Given the description of an element on the screen output the (x, y) to click on. 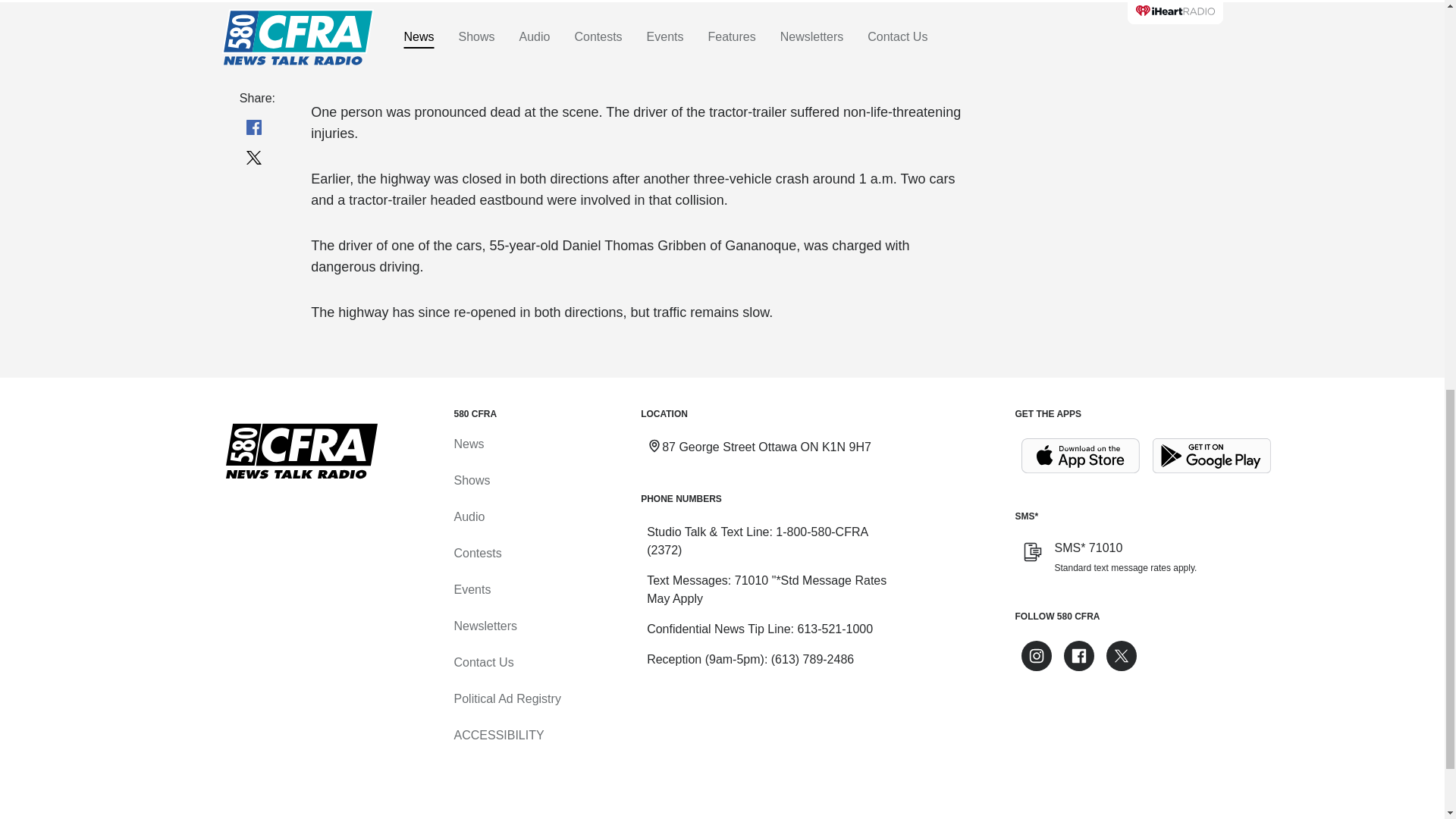
Contact Us (482, 662)
Accessibility (497, 735)
Audio (468, 516)
News (467, 443)
Shows (470, 480)
Get it on Google Play (1212, 456)
613-521-1000 (834, 628)
Contests (476, 553)
Newsletters (484, 625)
Events (471, 589)
